Given the description of an element on the screen output the (x, y) to click on. 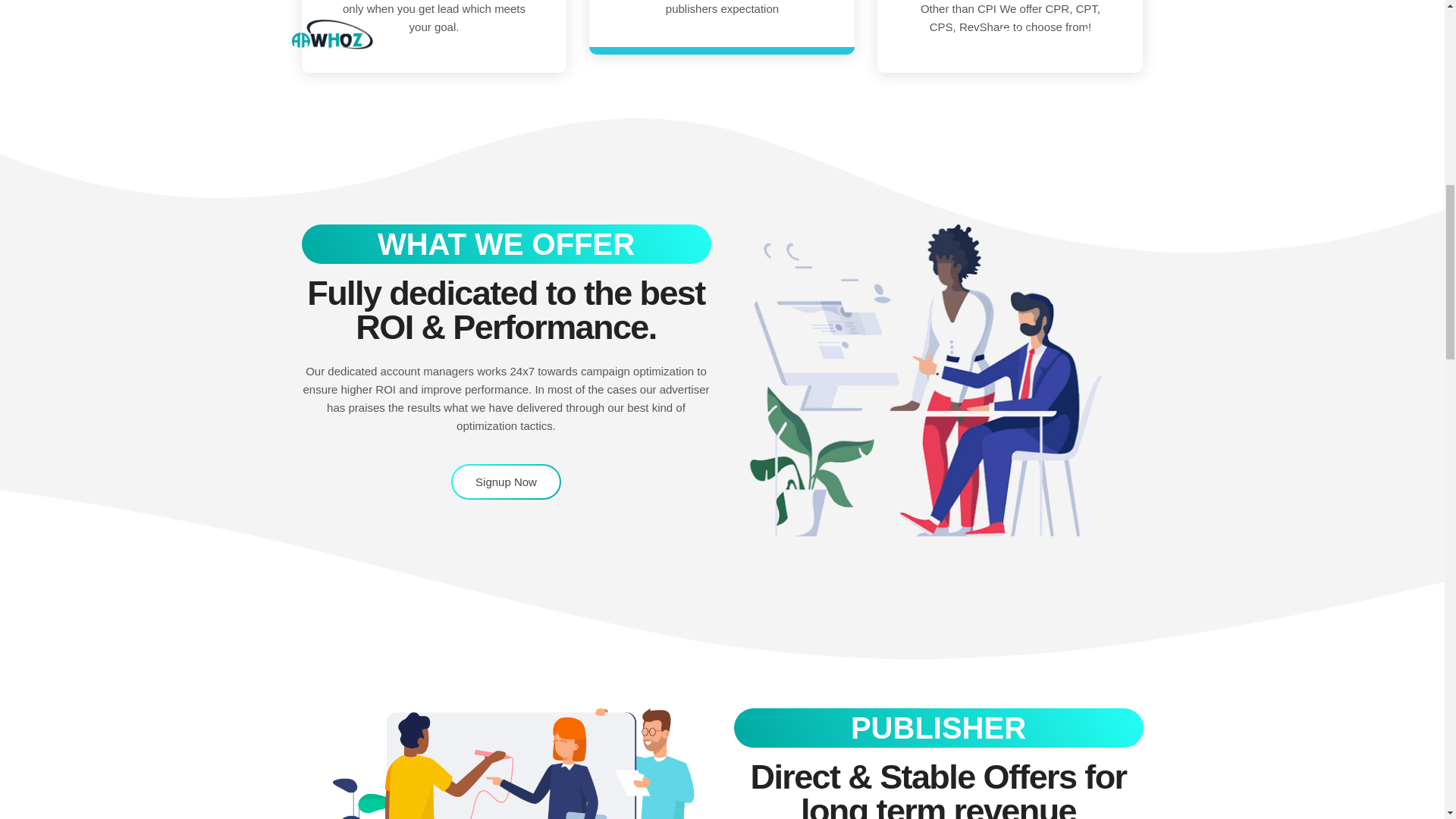
Signup Now (505, 481)
